Given the description of an element on the screen output the (x, y) to click on. 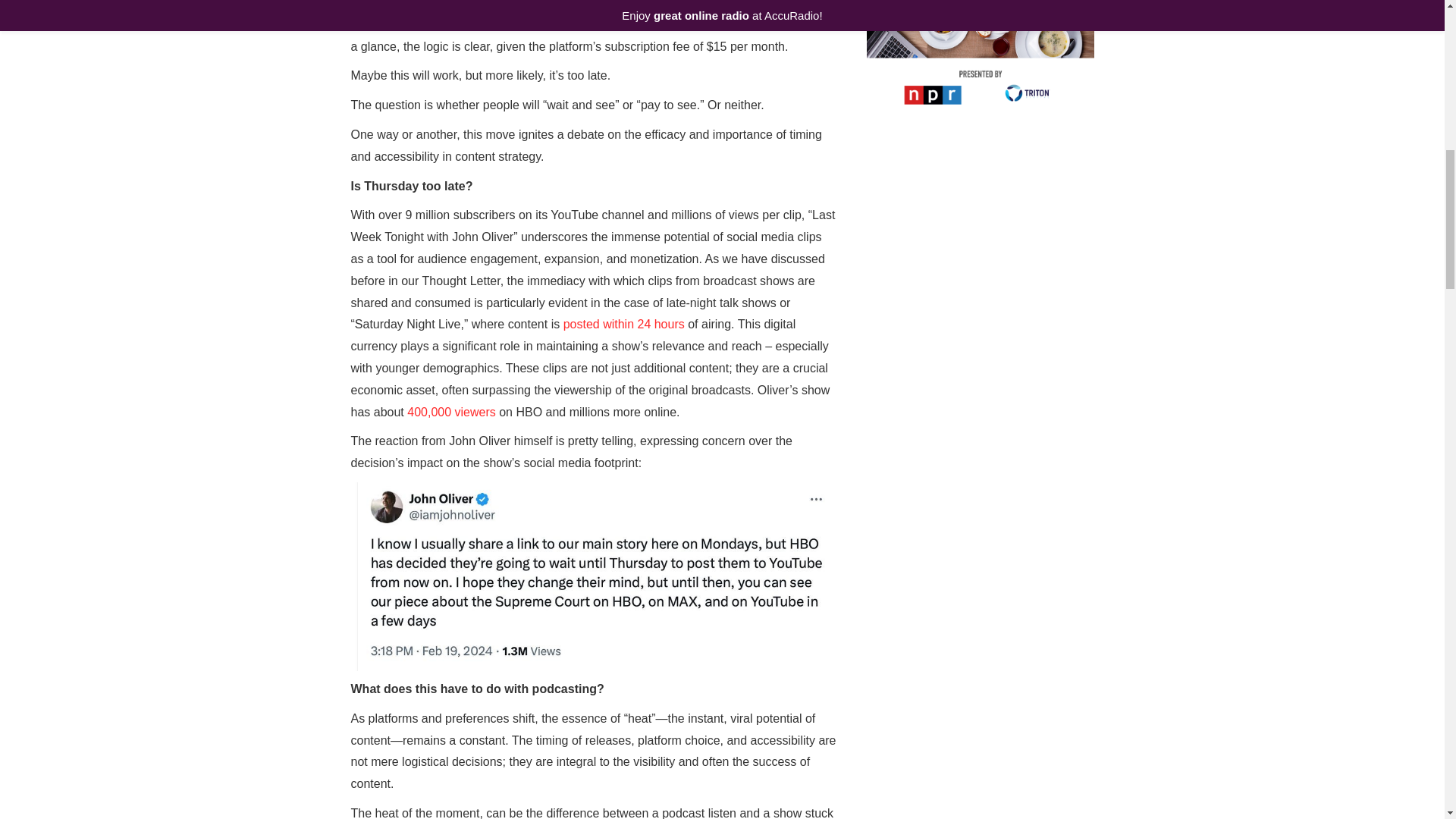
400,000 viewers (451, 411)
posted within 24 hours (623, 323)
Daryl Battaglia S1 Ep11 (979, 787)
